Given the description of an element on the screen output the (x, y) to click on. 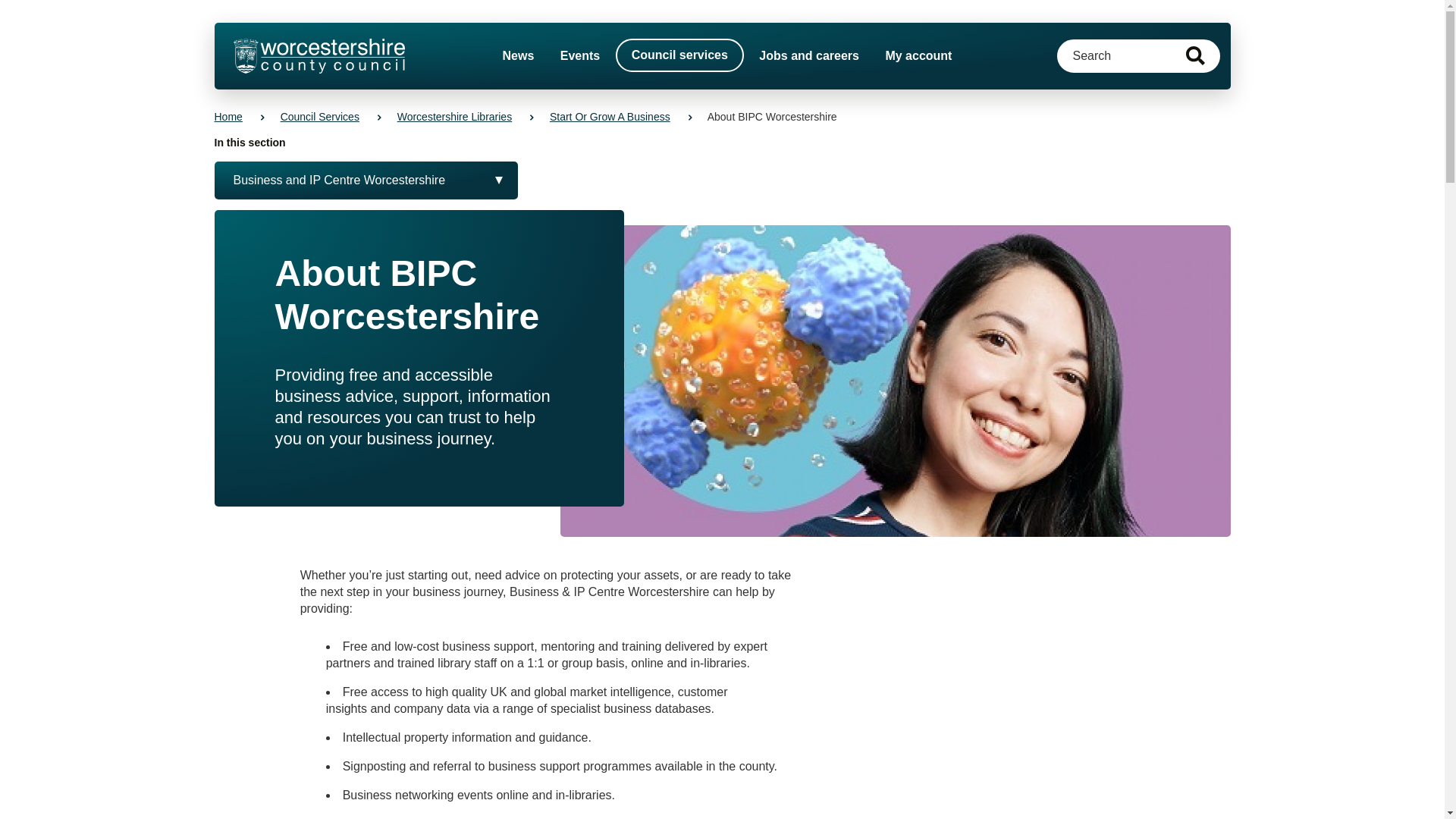
Search (1196, 56)
Events (580, 55)
News (518, 55)
My account (918, 55)
Search (1196, 56)
Council services (679, 55)
Jobs and careers (808, 55)
